Given the description of an element on the screen output the (x, y) to click on. 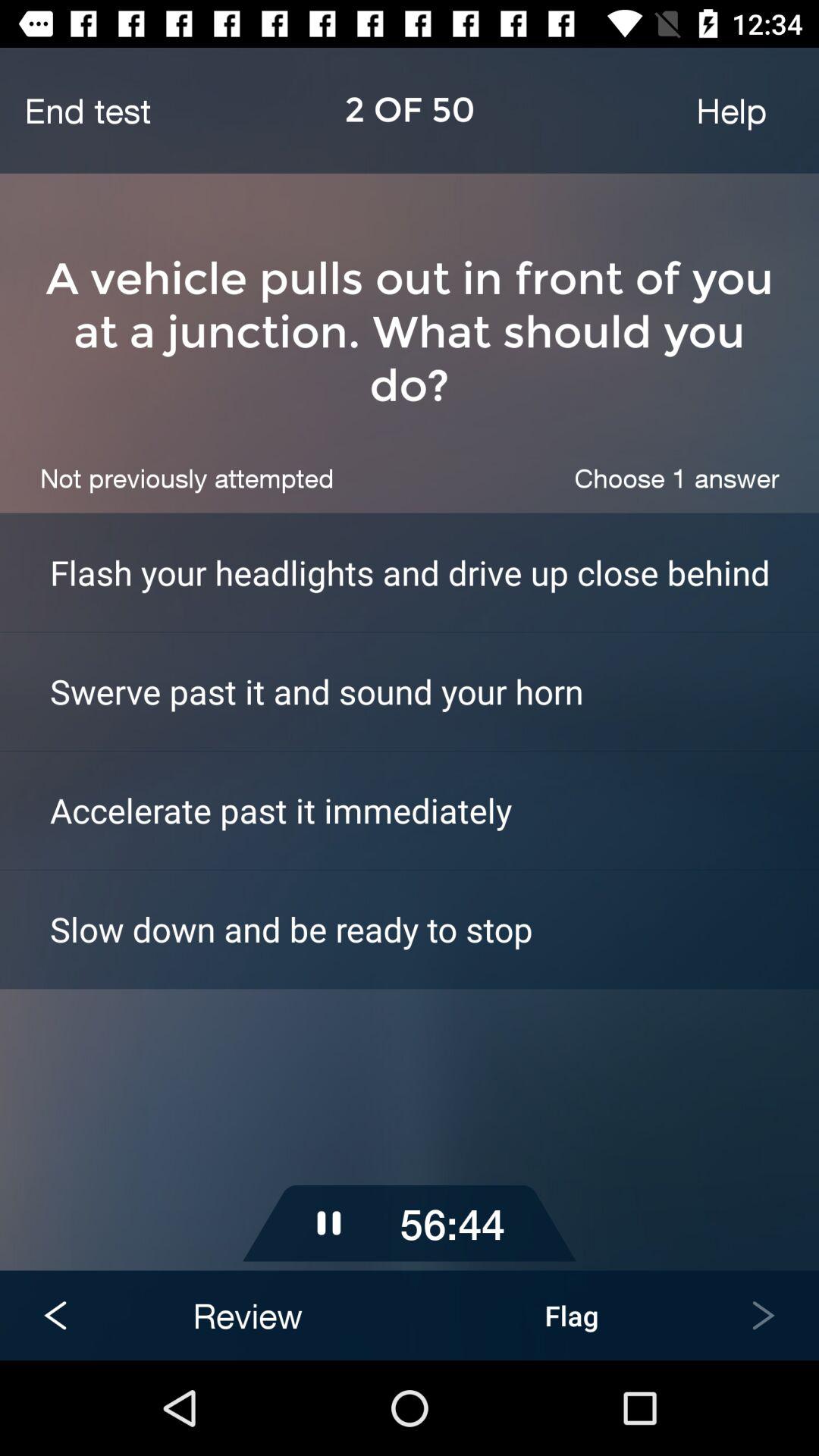
press the help icon (731, 110)
